Given the description of an element on the screen output the (x, y) to click on. 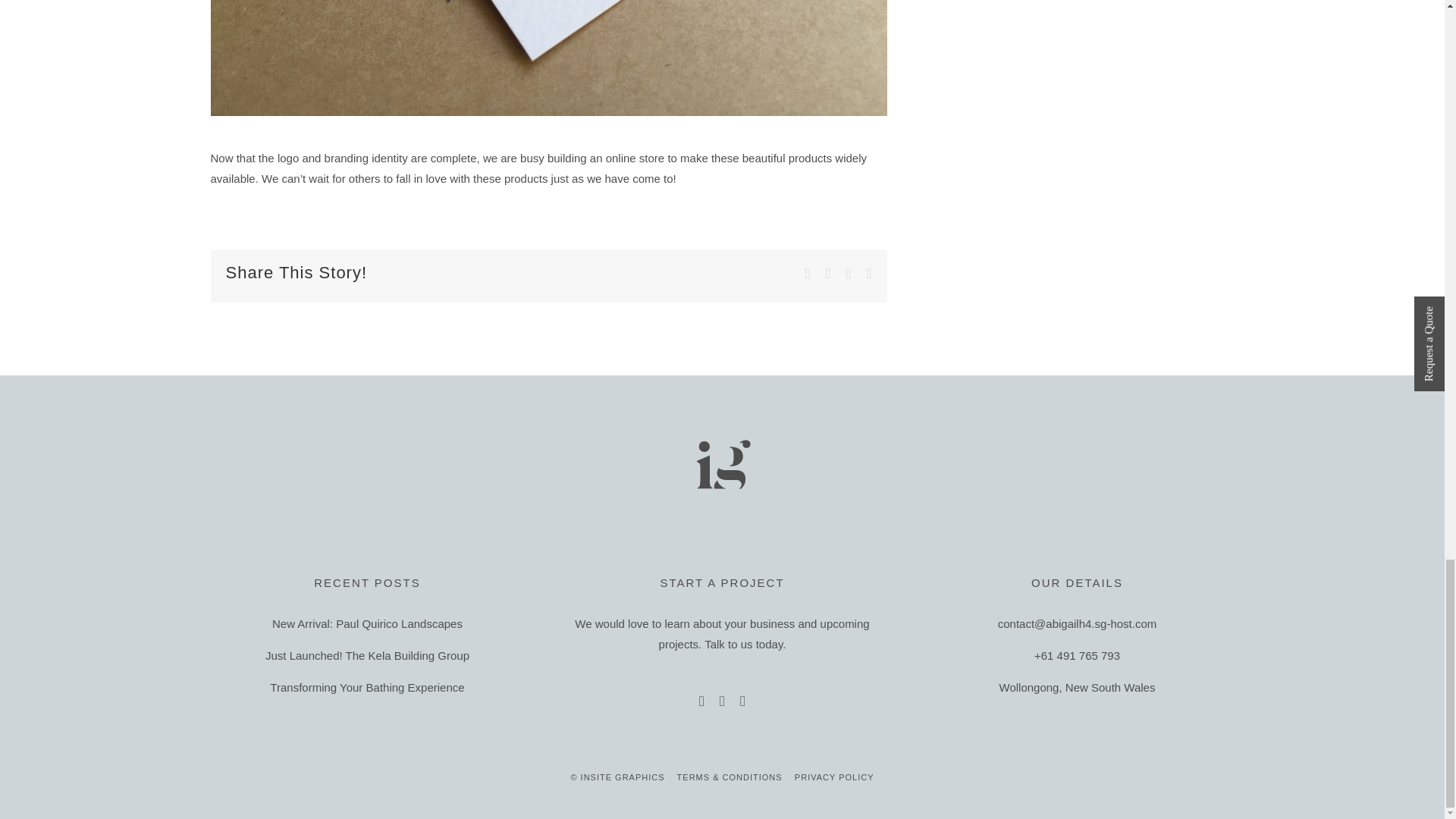
Insite Graphics (721, 464)
New Arrival: Paul Quirico Landscapes (367, 623)
Just Launched! The Kela Building Group (366, 655)
